Given the description of an element on the screen output the (x, y) to click on. 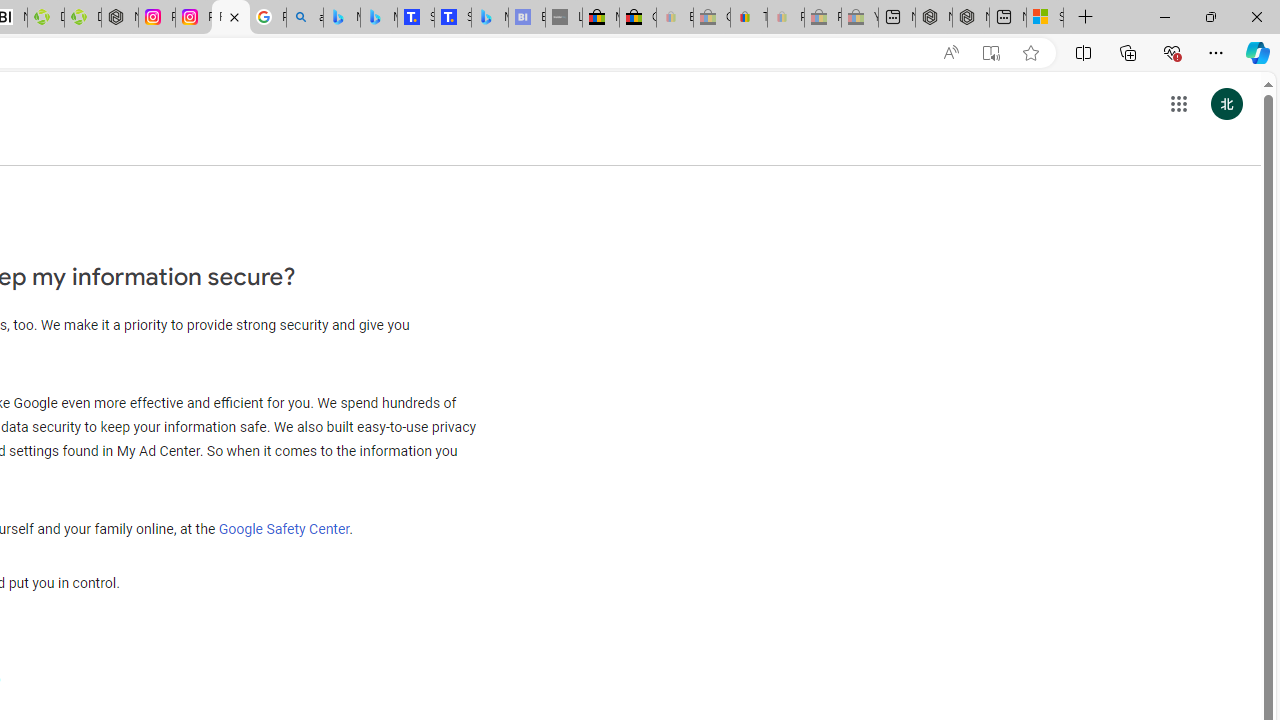
Payments Terms of Use | eBay.com - Sleeping (785, 17)
Descarga Driver Updater (83, 17)
Press Room - eBay Inc. - Sleeping (822, 17)
alabama high school quarterback dies - Search (304, 17)
Microsoft Bing Travel - Flights from Hong Kong to Bangkok (341, 17)
